Given the description of an element on the screen output the (x, y) to click on. 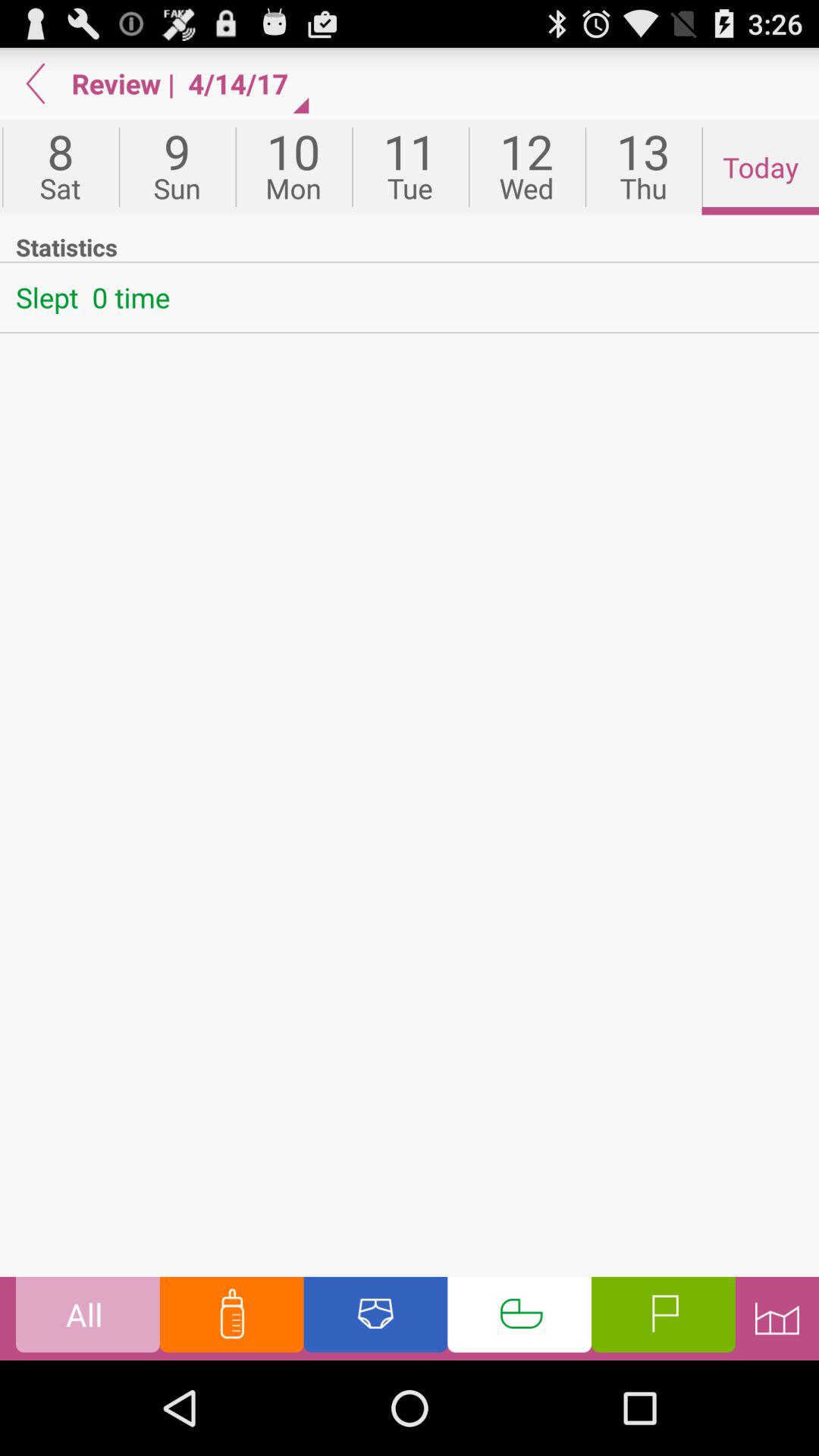
tap app to the left of review app (35, 83)
